Given the description of an element on the screen output the (x, y) to click on. 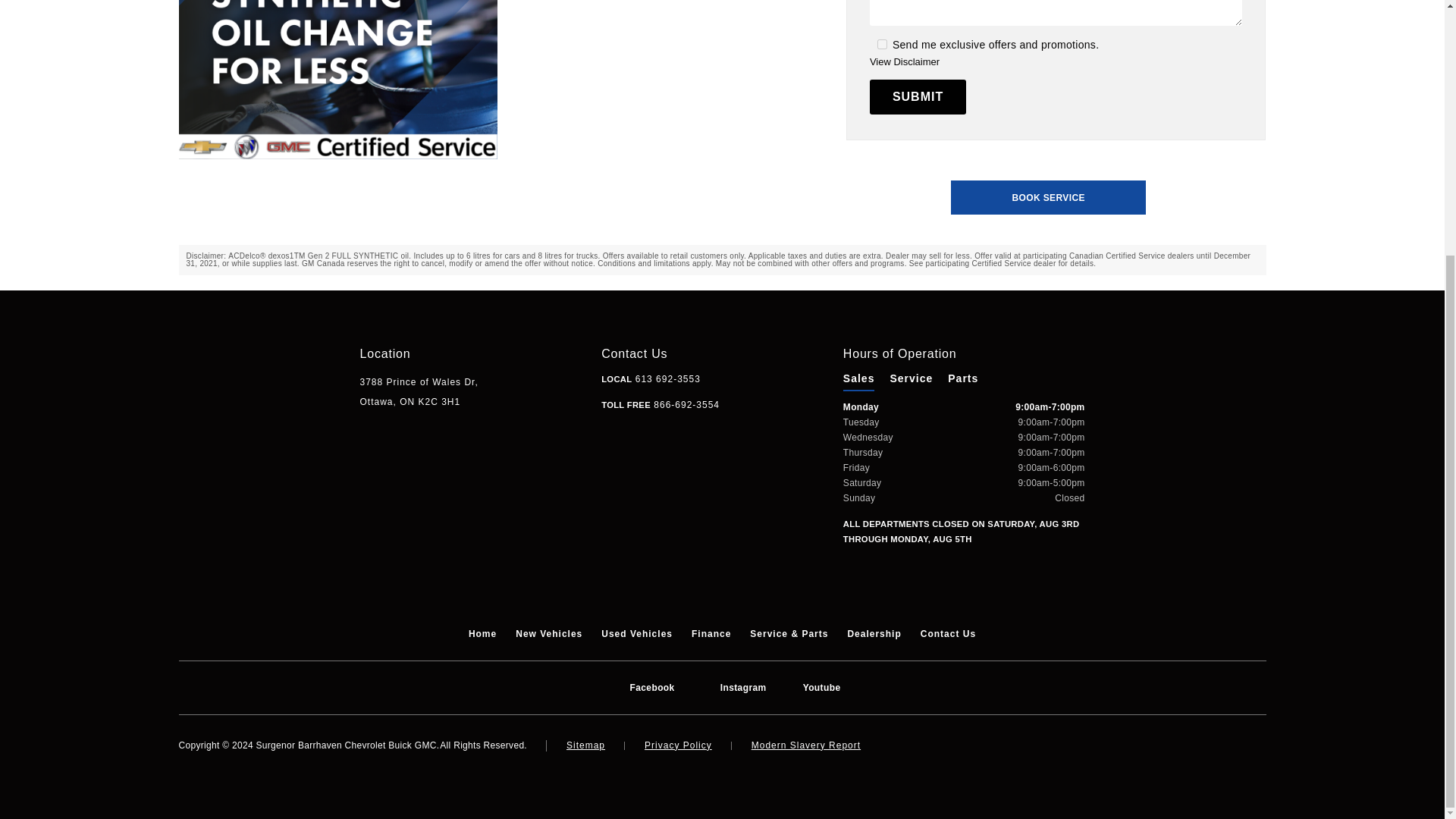
Powered by EDealer (1235, 745)
TOLL FREE 866-692-3554 (660, 404)
GET A FULL SYNTHETIC OIL CHANGE FOR LESS (338, 79)
on (881, 44)
BOOK SERVICE (1047, 197)
Parts (962, 378)
LOCAL 613 692-3553 (650, 378)
Home (482, 633)
Service (911, 378)
Submit (917, 96)
